Given the description of an element on the screen output the (x, y) to click on. 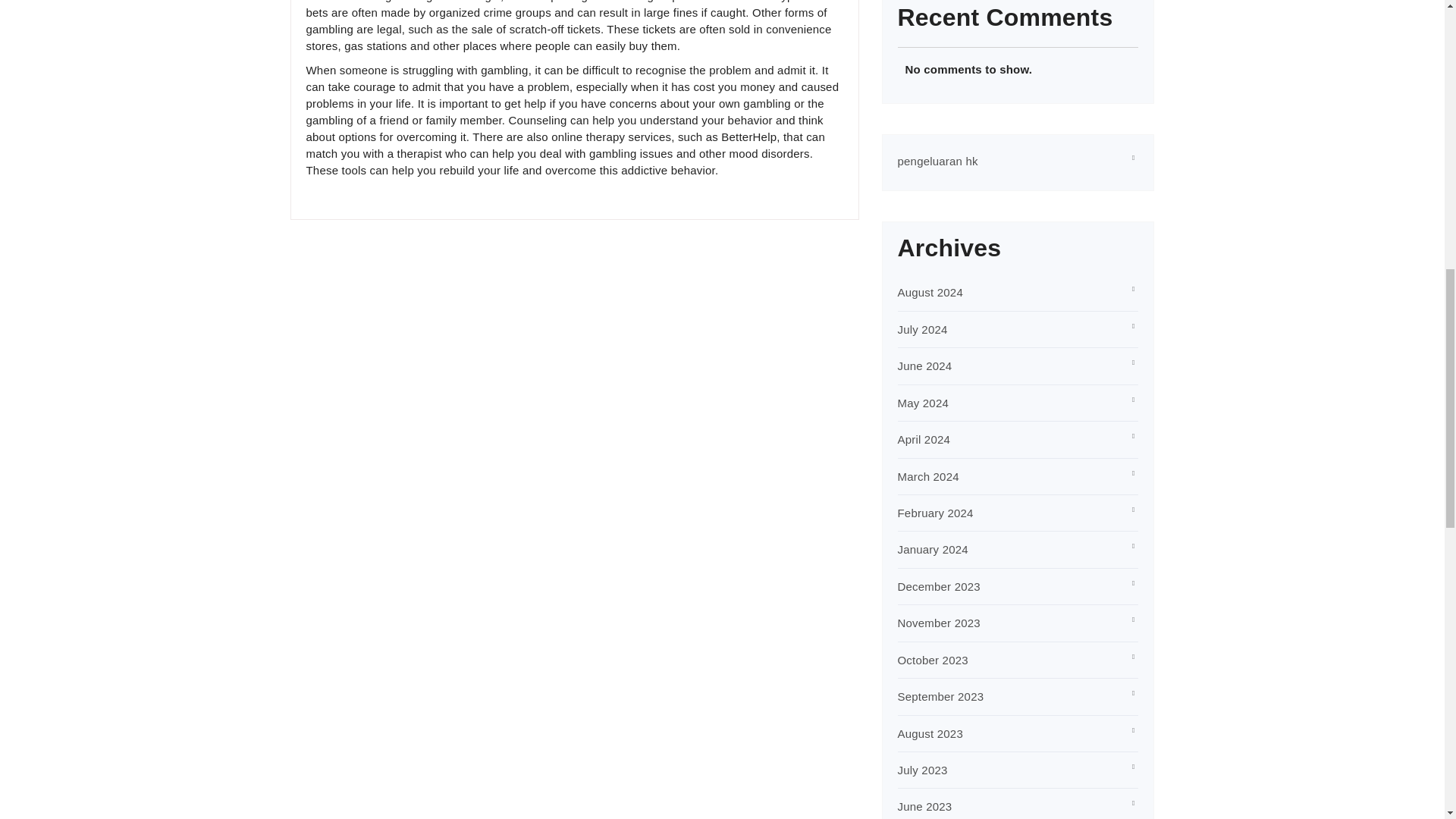
November 2023 (938, 622)
February 2024 (936, 512)
July 2023 (922, 769)
January 2024 (933, 549)
March 2024 (928, 476)
October 2023 (933, 659)
June 2024 (925, 365)
December 2023 (938, 585)
pengeluaran hk (938, 160)
May 2024 (923, 402)
July 2024 (922, 328)
April 2024 (924, 439)
August 2024 (930, 291)
August 2023 (930, 733)
September 2023 (941, 696)
